Given the description of an element on the screen output the (x, y) to click on. 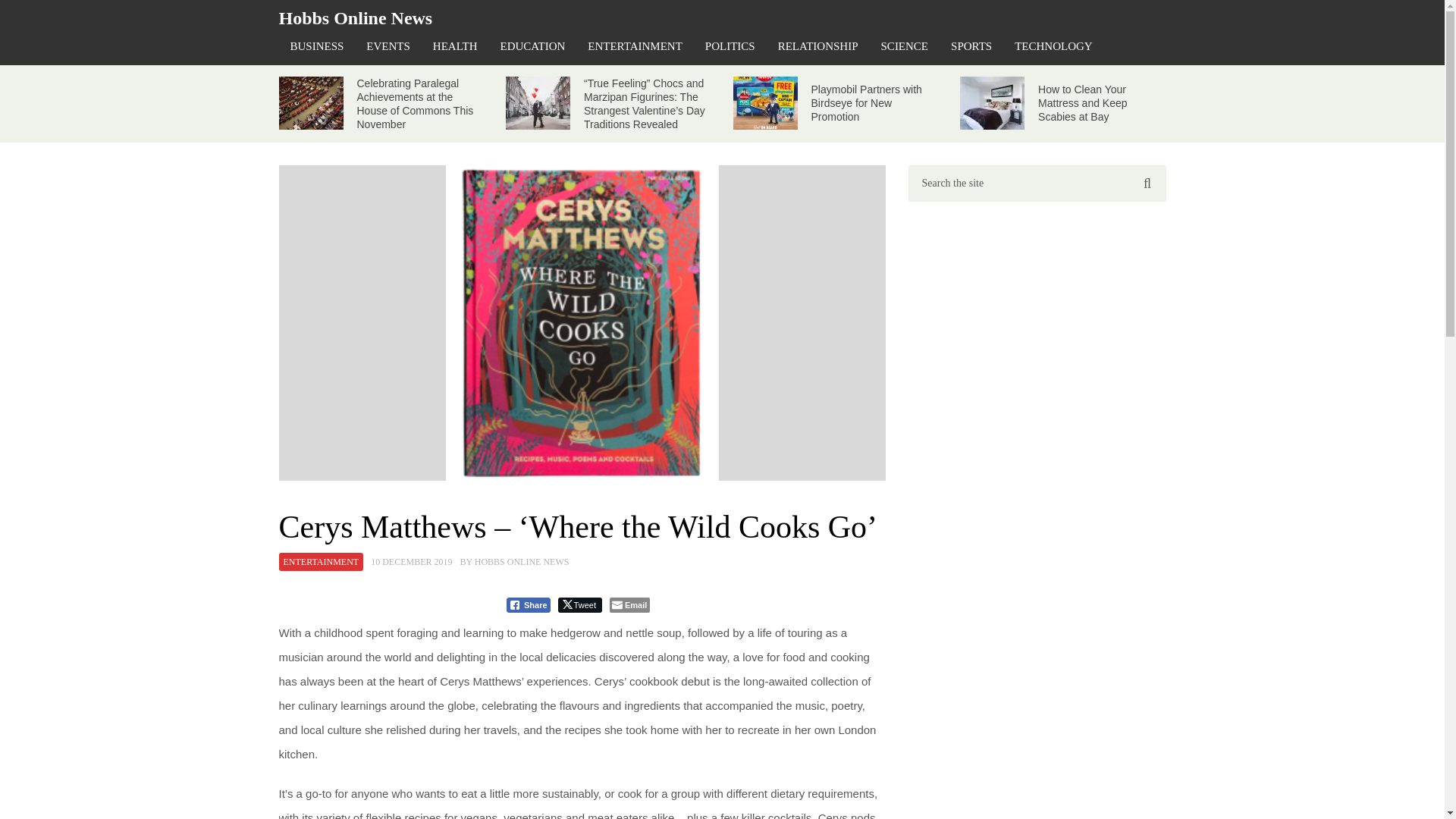
POLITICS (730, 46)
EDUCATION (531, 46)
TECHNOLOGY (1053, 46)
BUSINESS (317, 46)
SPORTS (971, 46)
Email (629, 604)
SCIENCE (904, 46)
ENTERTAINMENT (635, 46)
HOBBS ONLINE NEWS (521, 561)
ENTERTAINMENT (321, 561)
HEALTH (455, 46)
Hobbs Online News (355, 18)
How to Clean Your Mattress and Keep Scabies at Bay (1082, 102)
